Given the description of an element on the screen output the (x, y) to click on. 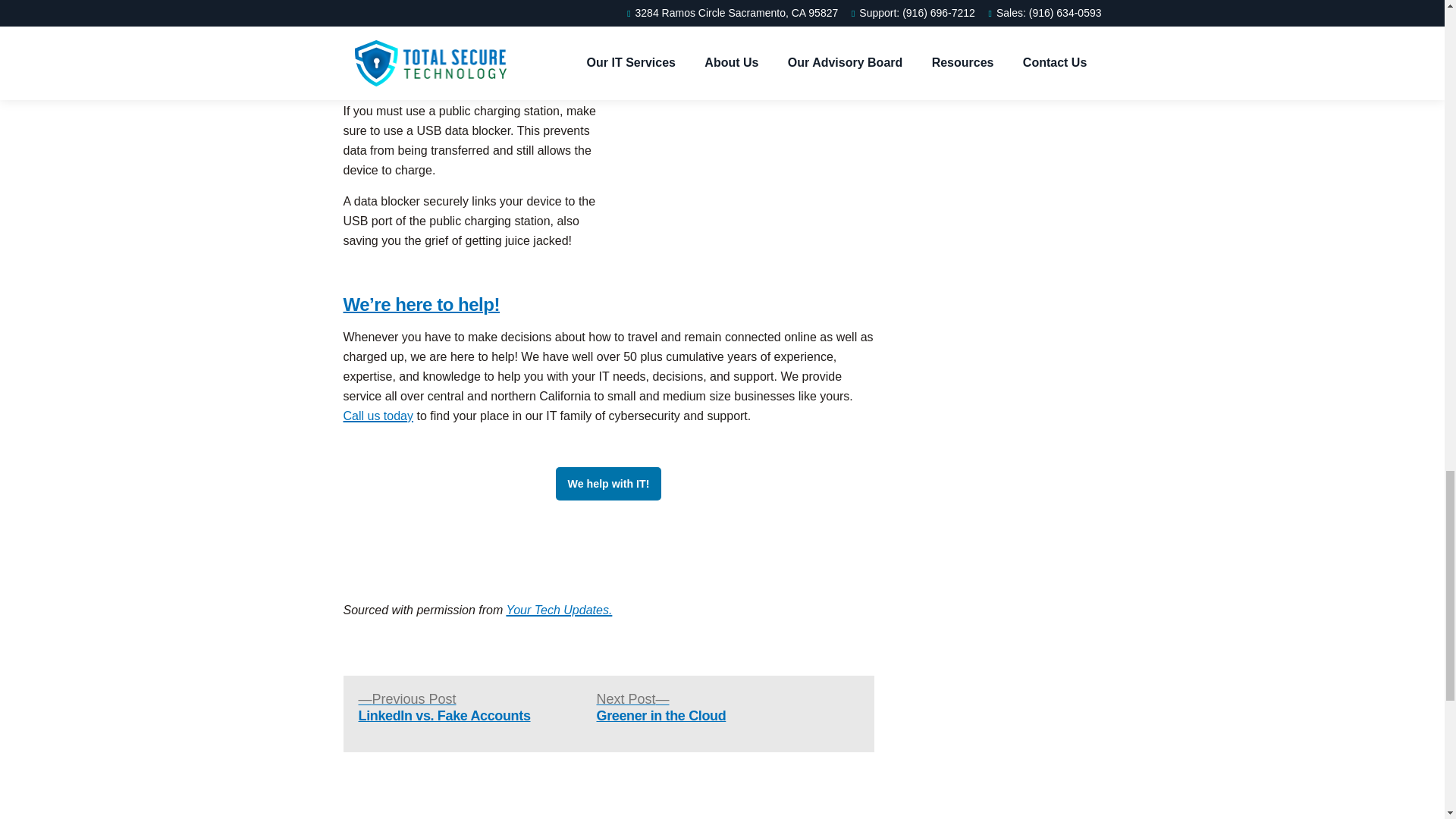
We help with IT! (660, 707)
Call us today (609, 483)
Your Tech Updates. (443, 707)
